Given the description of an element on the screen output the (x, y) to click on. 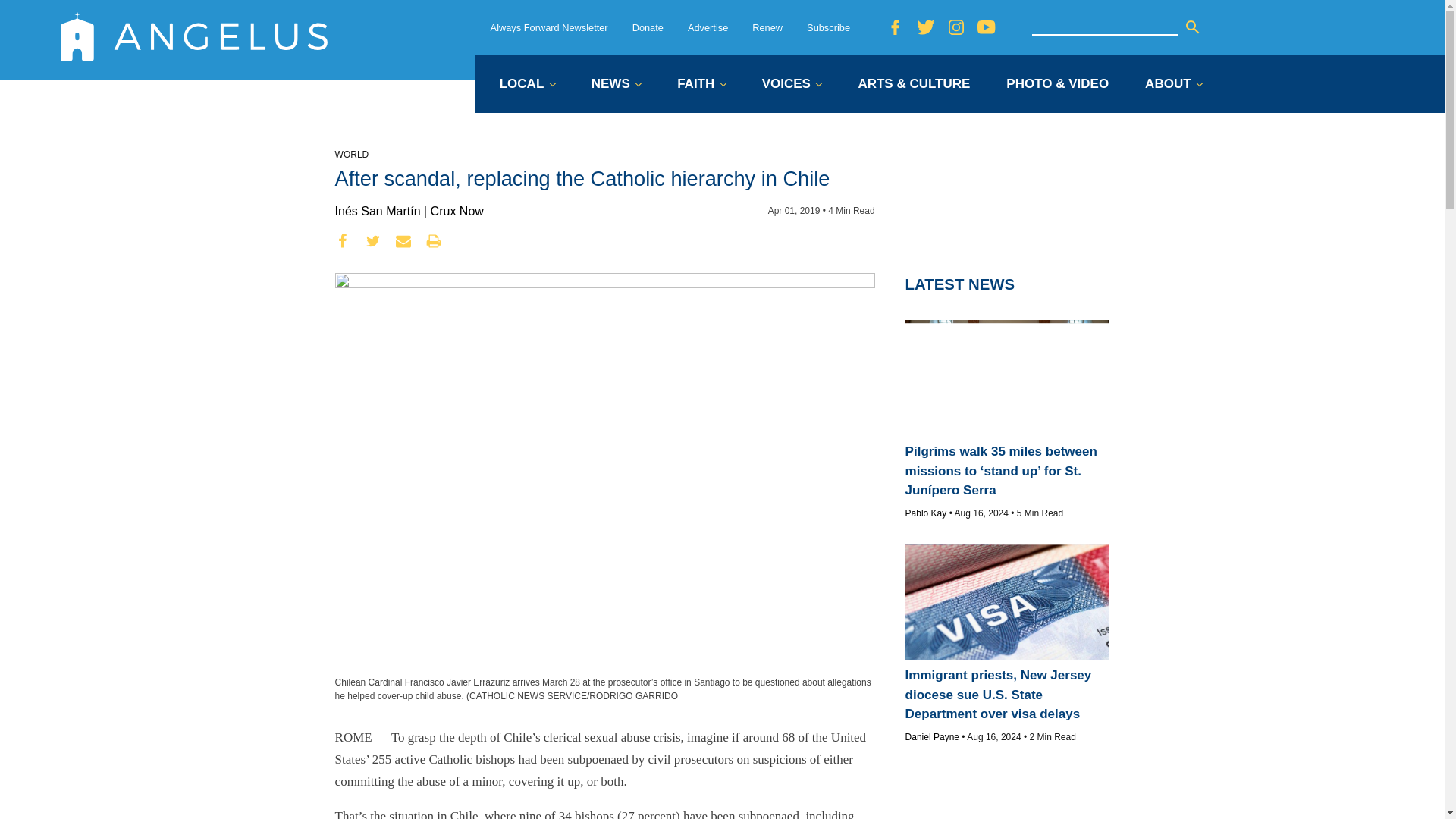
Posts by Daniel Payne (932, 737)
print (433, 240)
FAITH (701, 84)
Posts by Pablo Kay (926, 512)
envelope (403, 240)
ABOUT (1173, 84)
Renew (767, 27)
Always Forward Newsletter (549, 27)
VOICES (791, 84)
Search (1192, 27)
